Given the description of an element on the screen output the (x, y) to click on. 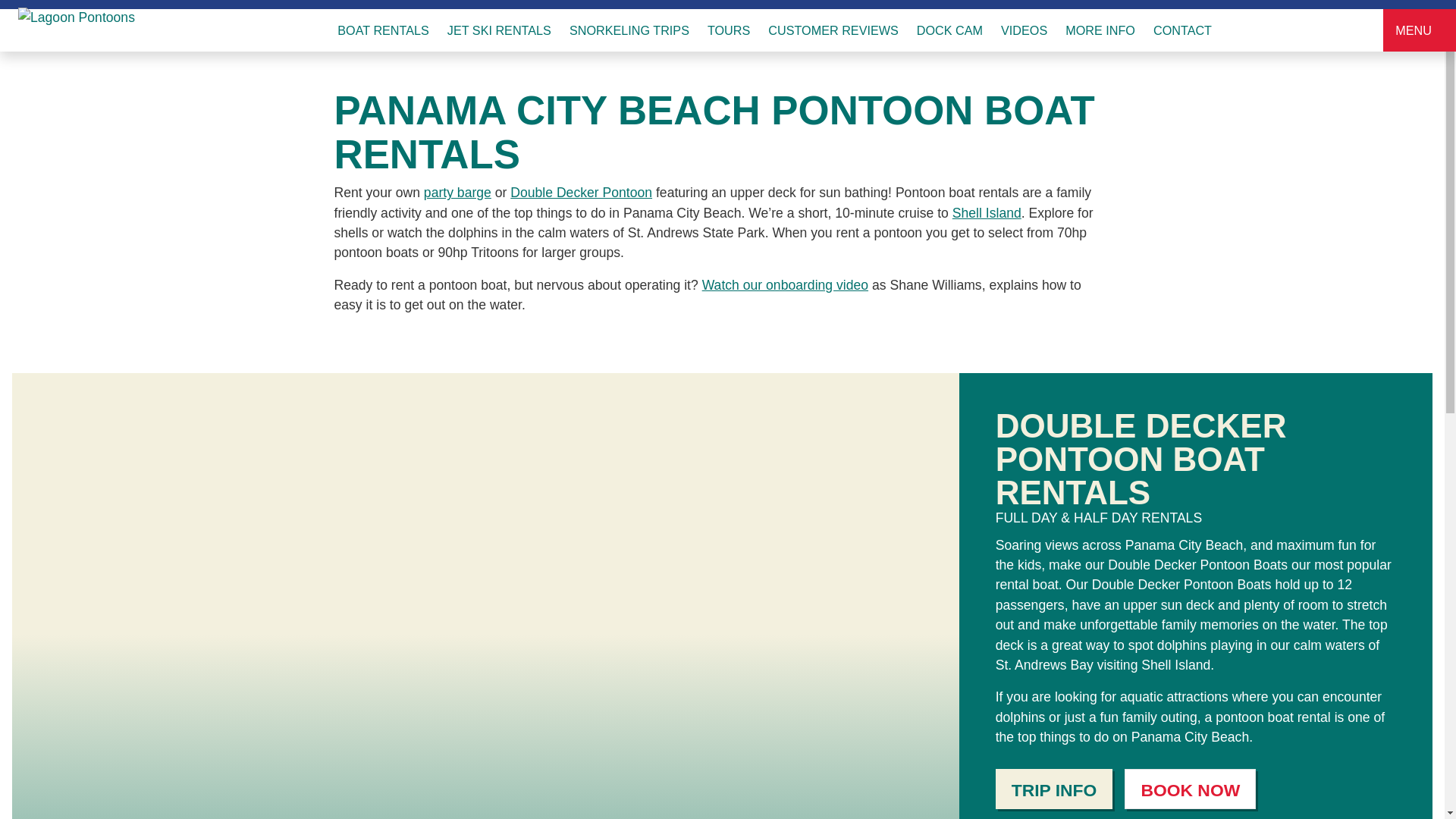
JET SKI RENTALS (499, 30)
Boat Rentals (387, 30)
TRIP INFO (1054, 789)
TOURS (728, 30)
BOOK NOW (1189, 789)
Customer Reviews (832, 30)
Double Decker Pontoon (581, 192)
party barge (457, 192)
DOUBLE DECKER PONTOON BOAT RENTALS (1141, 458)
Tours (728, 30)
CUSTOMER REVIEWS (832, 30)
Snorkeling Trips (629, 30)
SNORKELING TRIPS (629, 30)
Watch our onboarding video (784, 284)
